Given the description of an element on the screen output the (x, y) to click on. 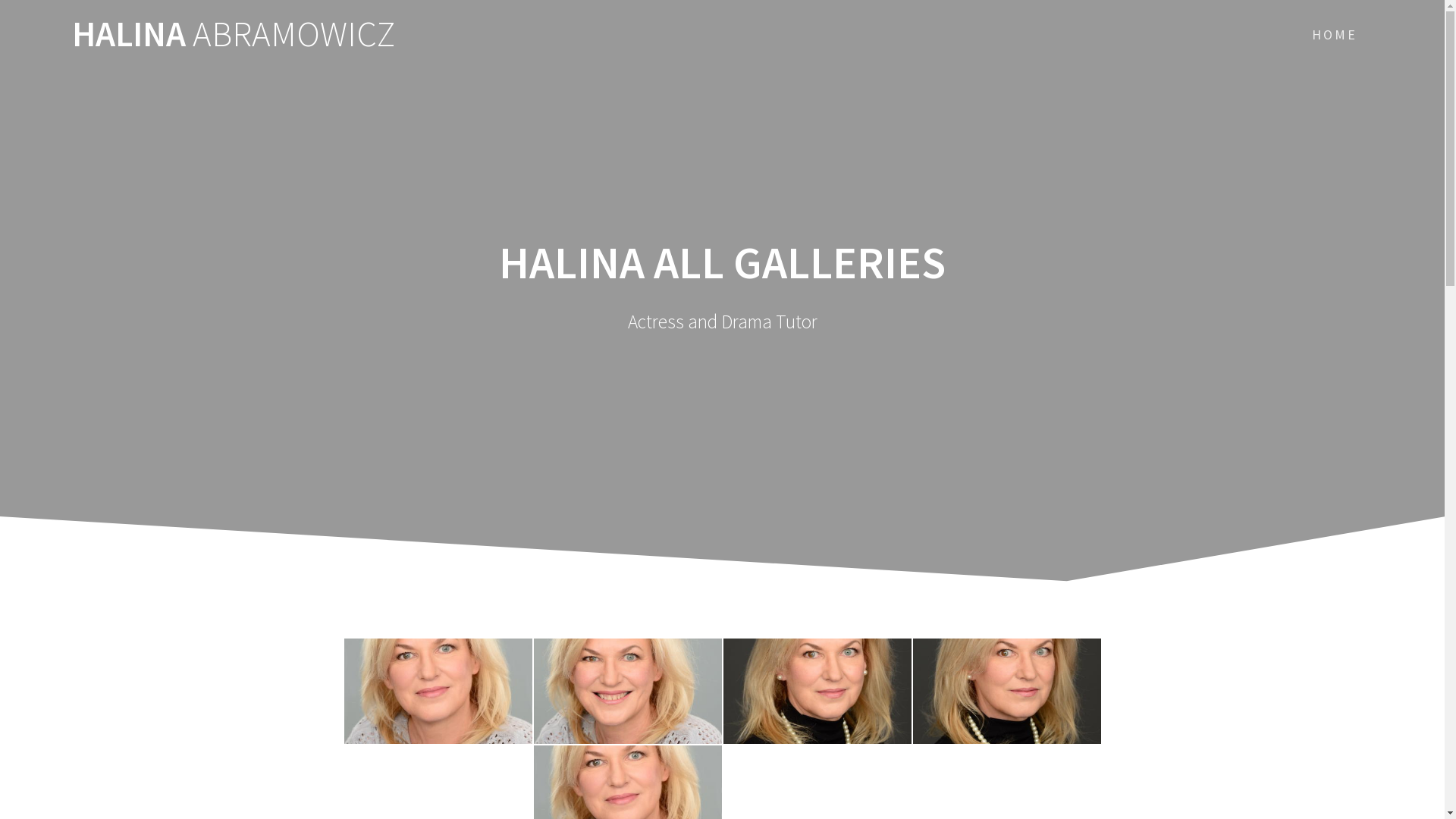
HALINA ABRAMOWICZ Element type: text (233, 34)
HOME Element type: text (1334, 34)
Skip to content Element type: text (0, 0)
